Given the description of an element on the screen output the (x, y) to click on. 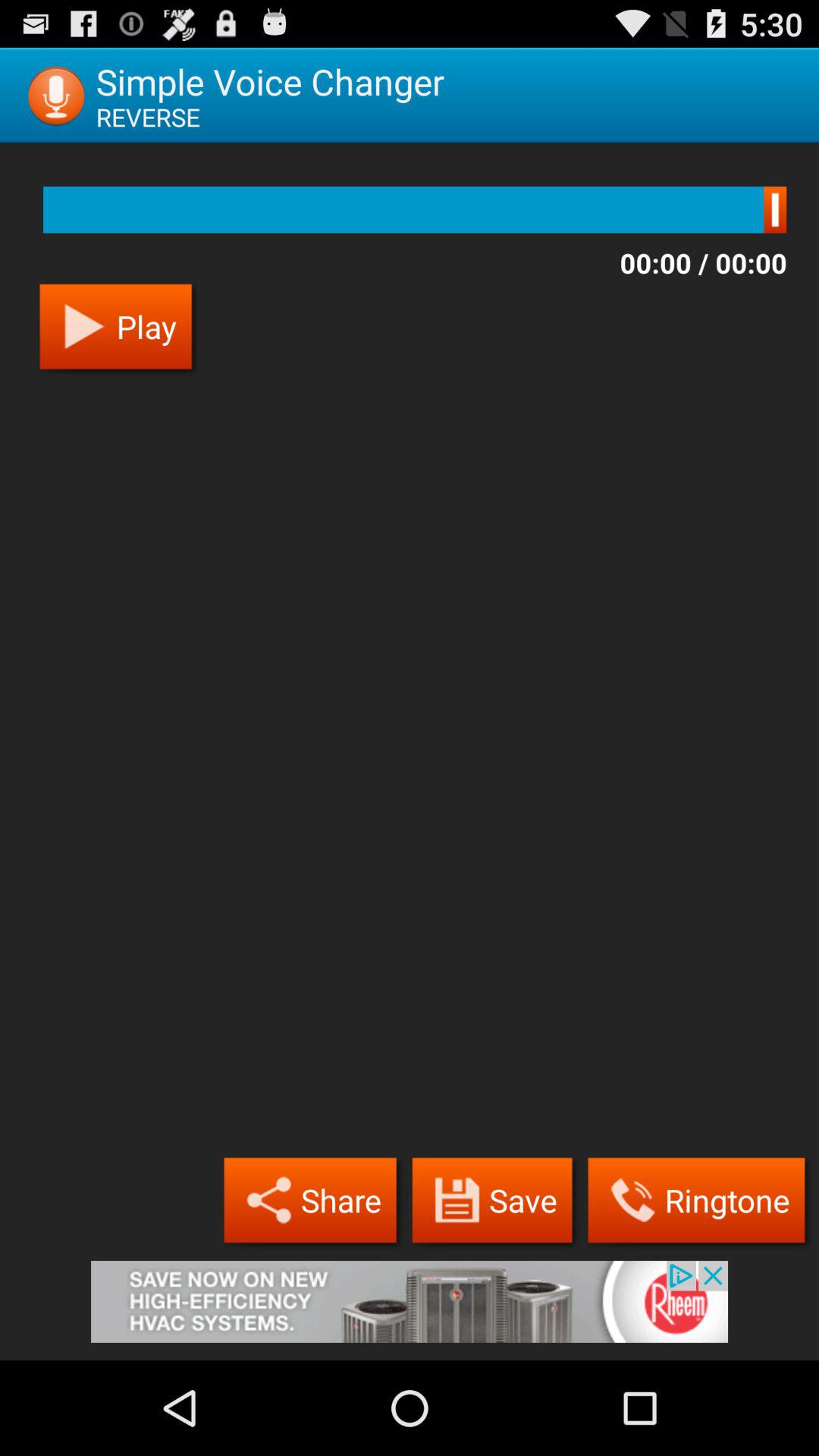
advertisement (409, 1310)
